Given the description of an element on the screen output the (x, y) to click on. 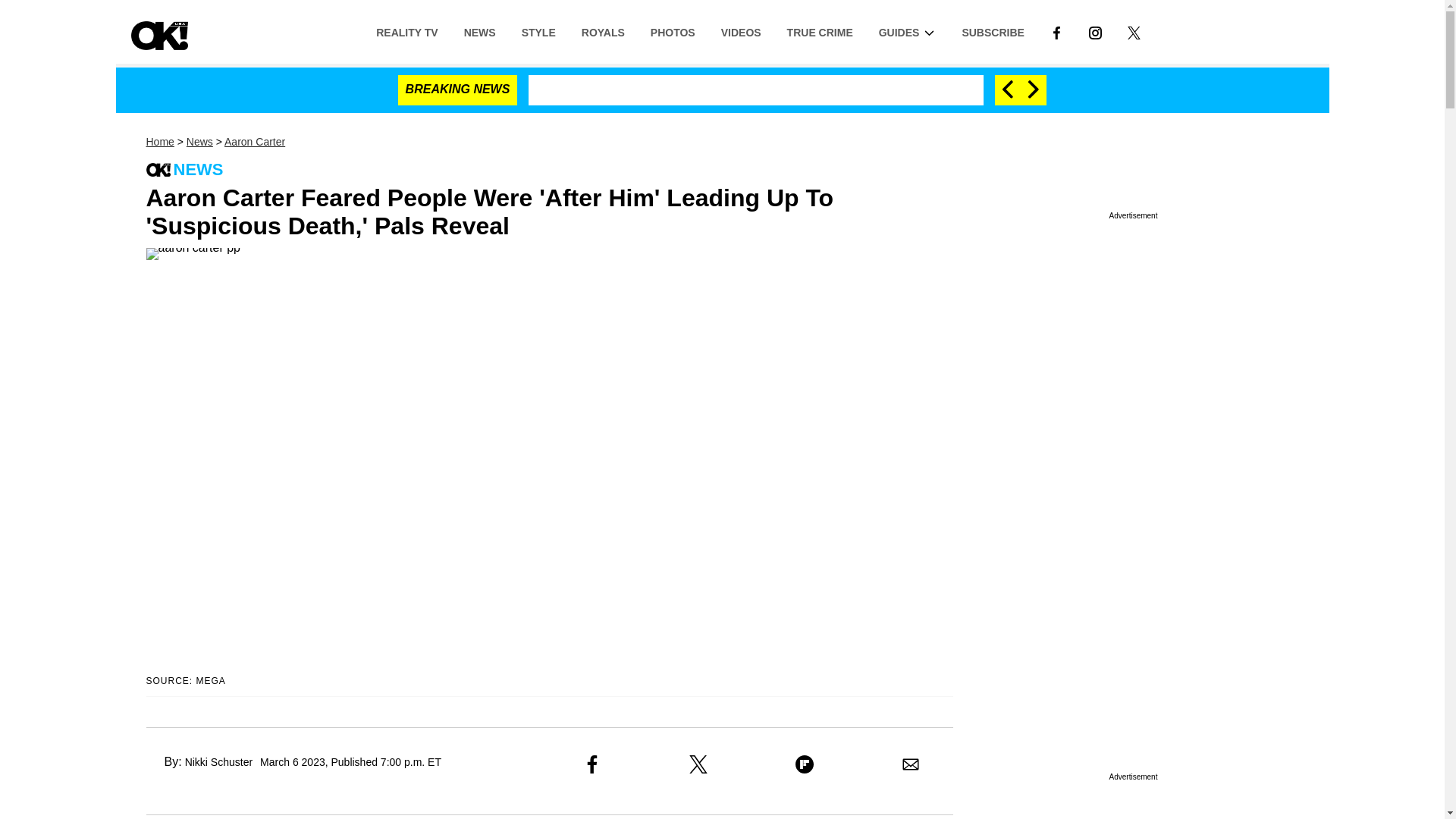
ROYALS (603, 31)
Share to Email (909, 764)
VIDEOS (740, 31)
Share to X (697, 764)
NEWS (479, 31)
LINK TO INSTAGRAM (1095, 31)
Link to X (1134, 31)
Link to Instagram (1095, 31)
Share to Flipboard (803, 764)
TRUE CRIME (820, 31)
